Given the description of an element on the screen output the (x, y) to click on. 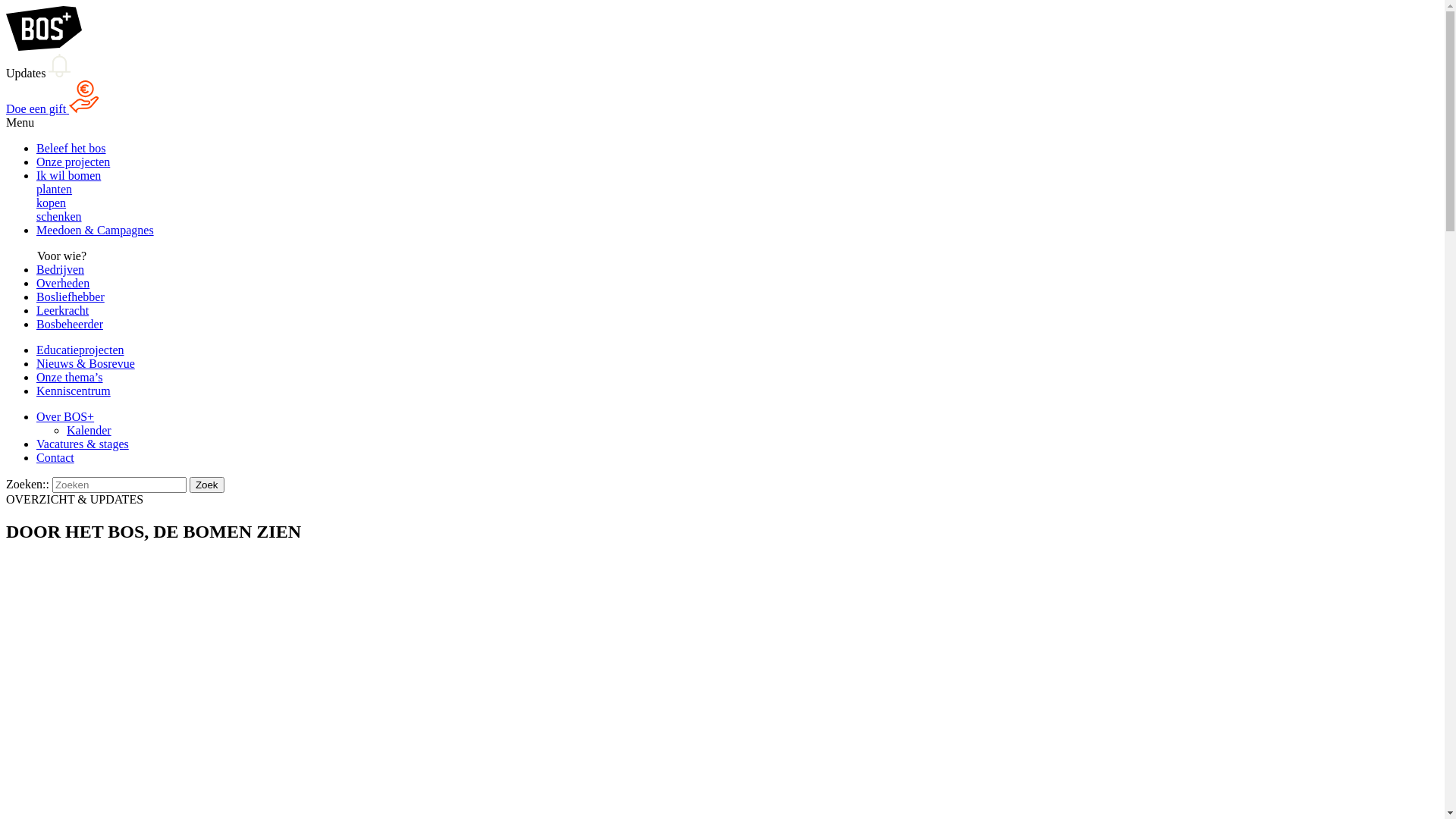
Vacatures & stages Element type: text (82, 443)
Leerkracht Element type: text (62, 310)
Updates Element type: text (38, 72)
Zoeken Element type: hover (119, 484)
BOS+ Element type: hover (43, 46)
Ik wil bomen
planten
kopen
schenken Element type: text (737, 196)
Onze projecten Element type: text (72, 161)
Bosliefhebber Element type: text (70, 296)
Educatieprojecten Element type: text (80, 349)
Bosbeheerder Element type: text (69, 323)
Contact Element type: text (55, 457)
Over BOS+ Element type: text (65, 416)
Beleef het bos Element type: text (71, 147)
Overheden Element type: text (62, 282)
Kalender Element type: text (88, 429)
Nieuws & Bosrevue Element type: text (85, 363)
Doe een gift Element type: text (52, 108)
Menu Element type: hover (722, 79)
Zoek Element type: text (206, 484)
Kenniscentrum Element type: text (73, 390)
Meedoen & Campagnes Element type: text (94, 229)
Bedrijven Element type: text (60, 269)
